Given the description of an element on the screen output the (x, y) to click on. 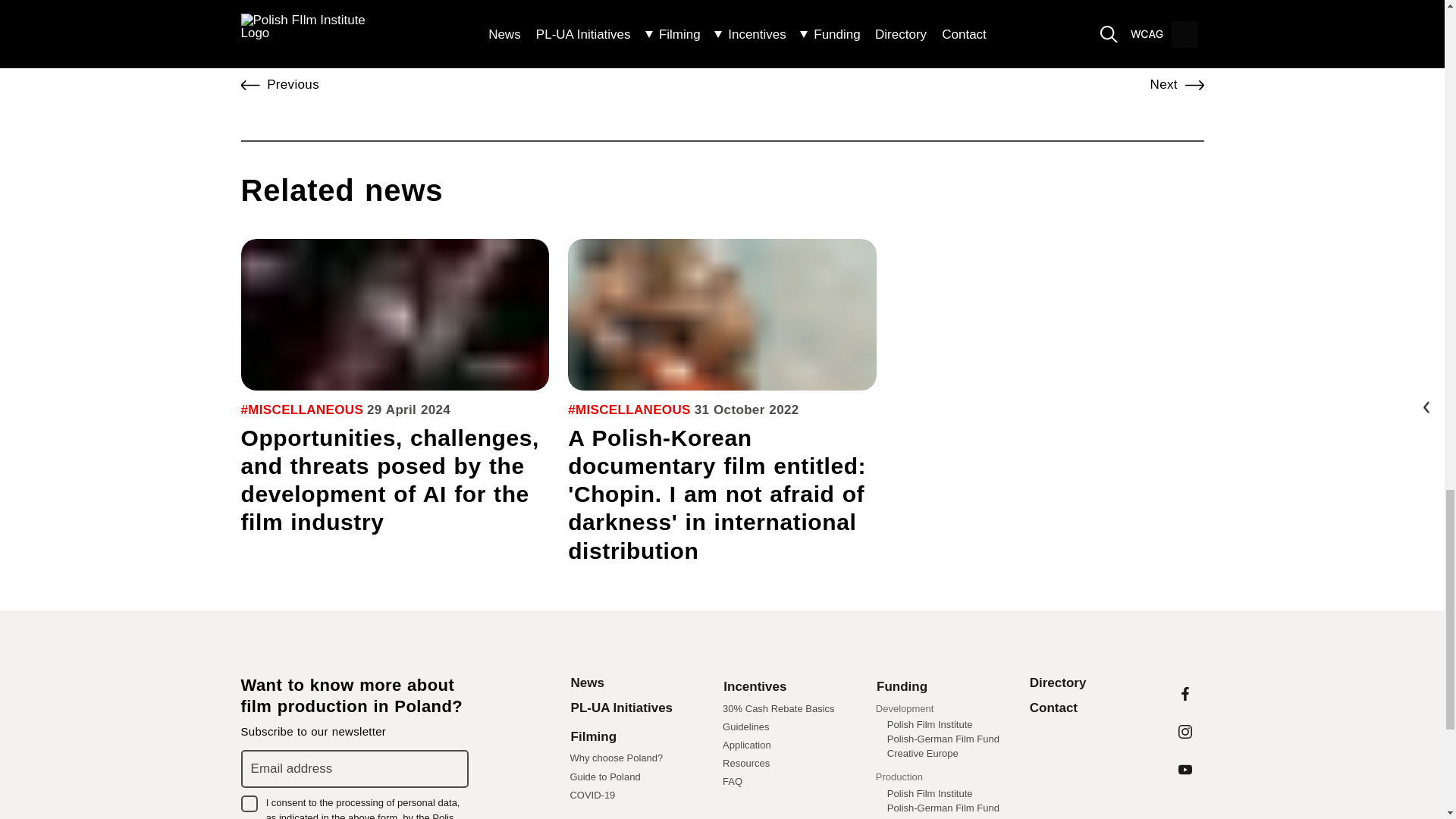
Facebook (1185, 693)
Youtube (1185, 769)
Instagram (1185, 731)
